Given the description of an element on the screen output the (x, y) to click on. 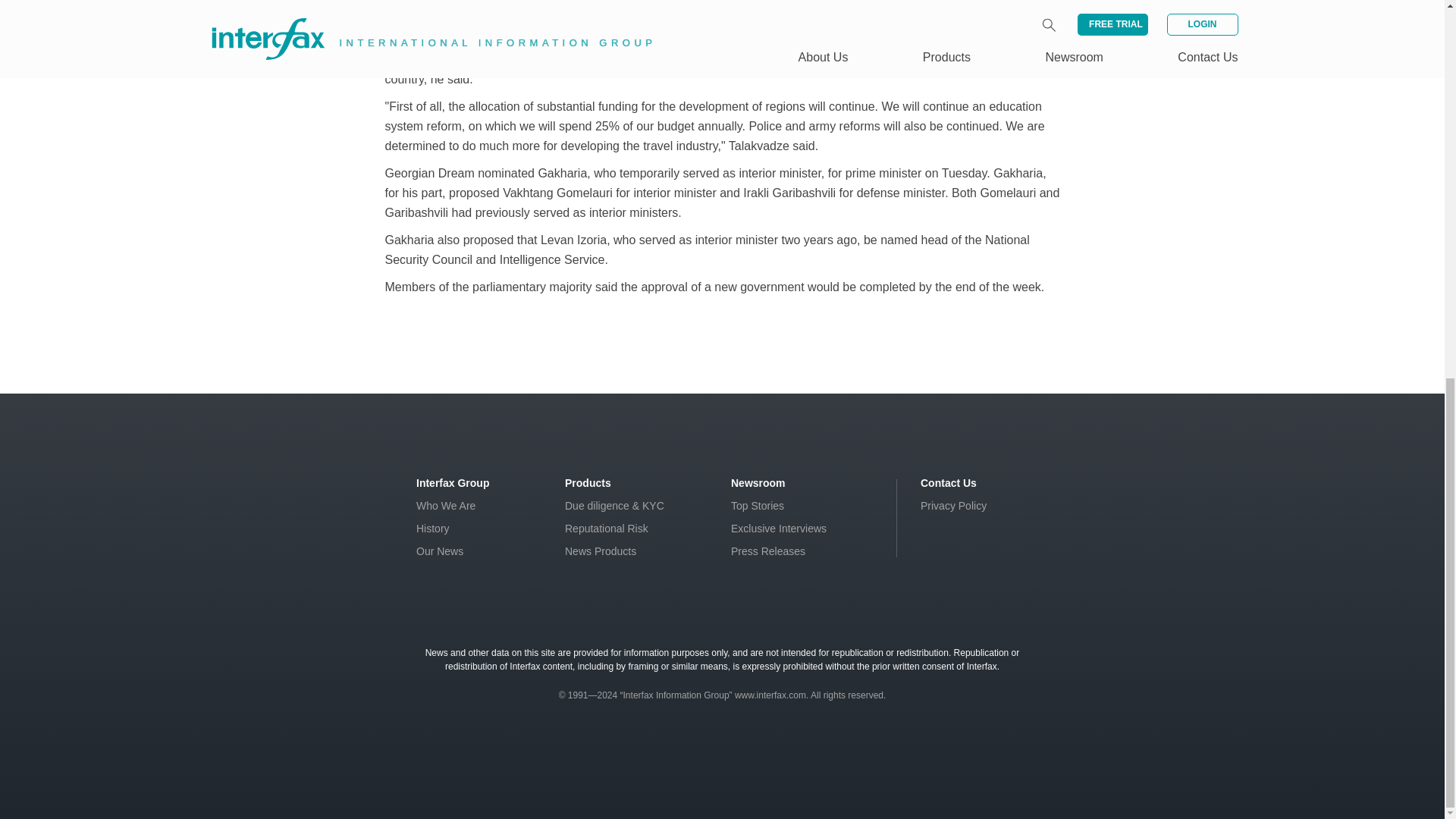
Interfax Group (452, 482)
Our News (439, 551)
Who We Are (446, 505)
History (432, 528)
